Given the description of an element on the screen output the (x, y) to click on. 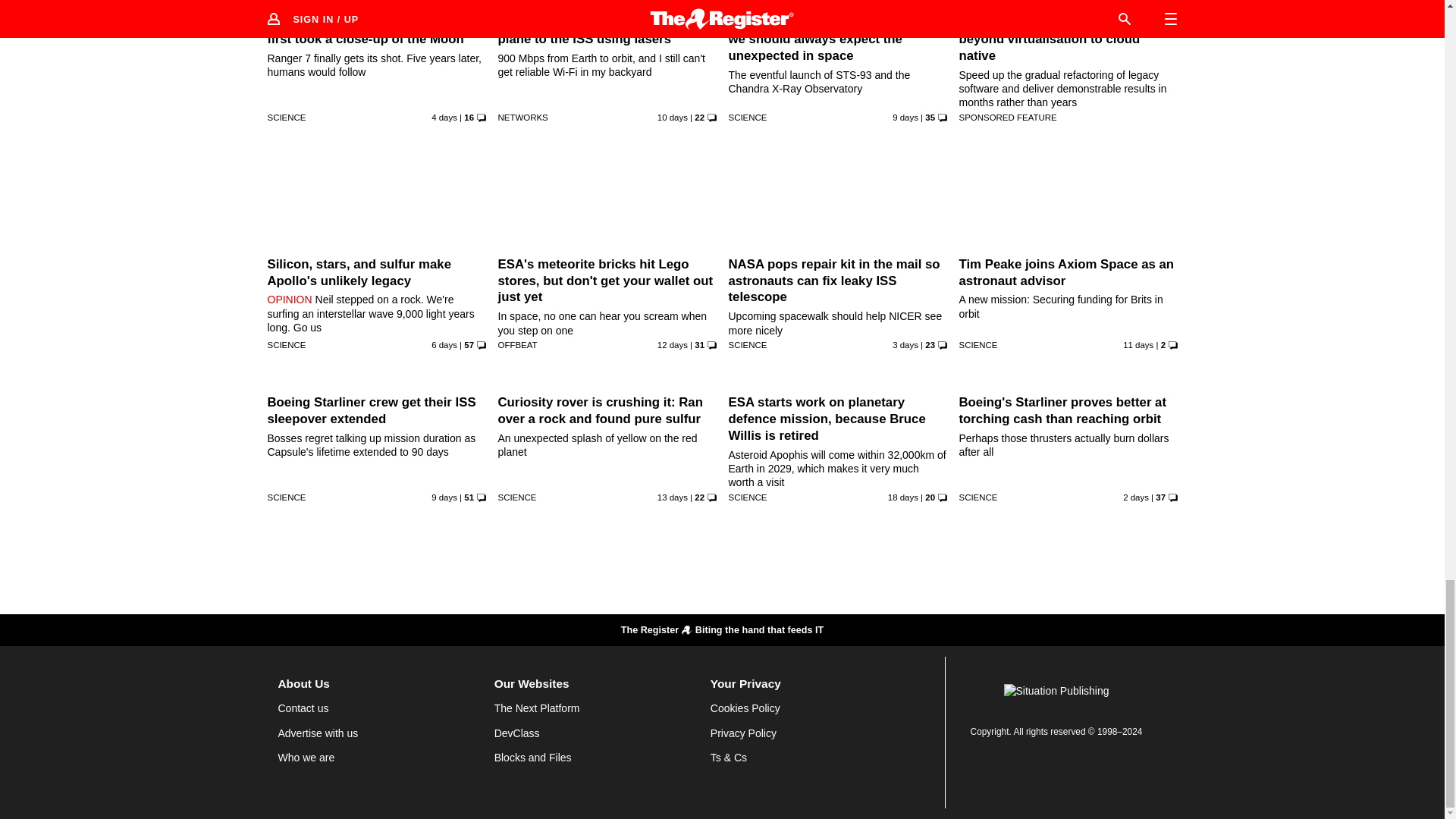
31 Jul 2024 11:30 (443, 117)
25 Jul 2024 19:2 (672, 117)
